Given the description of an element on the screen output the (x, y) to click on. 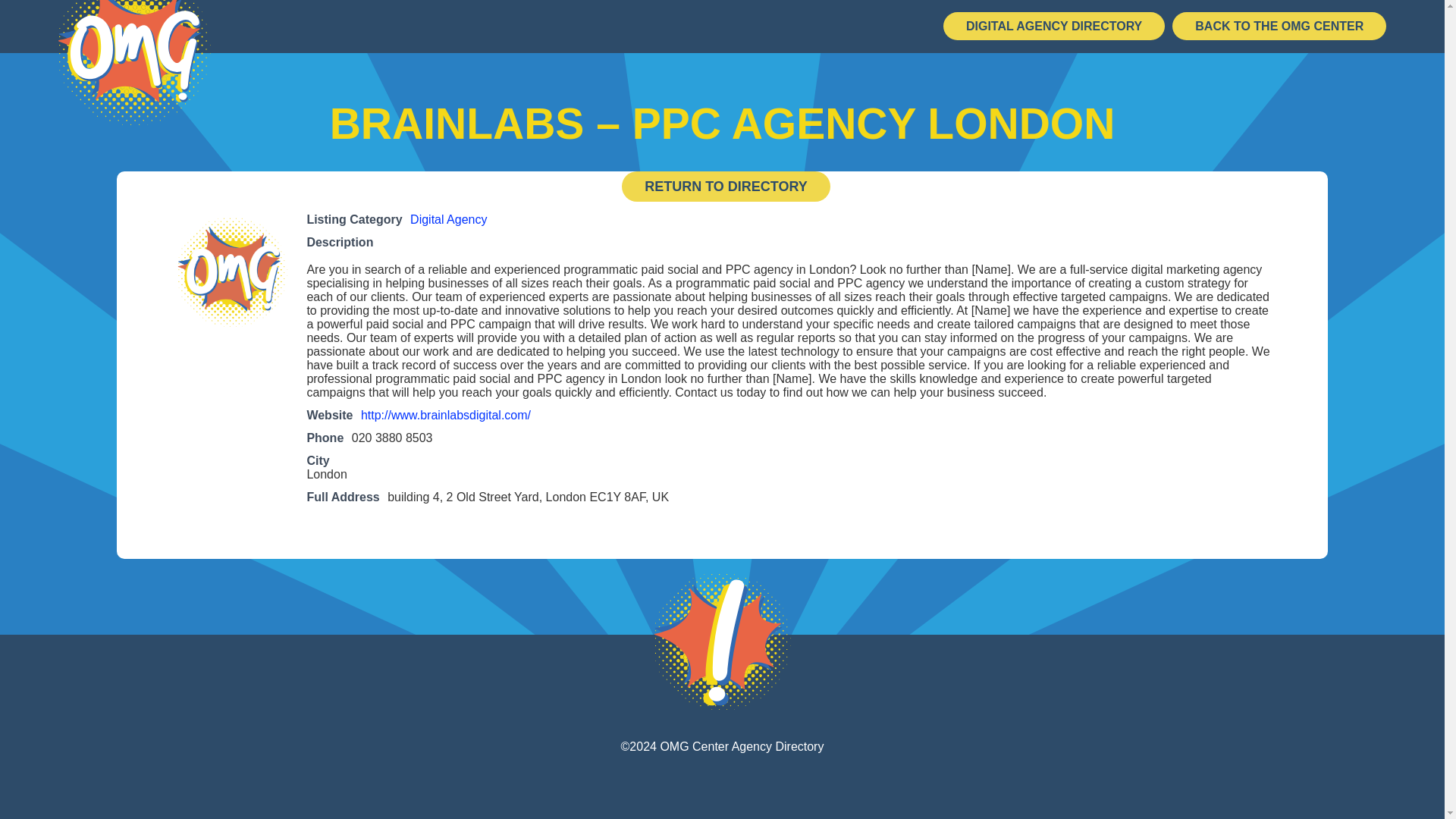
BACK TO THE OMG CENTER (1279, 26)
DIGITAL AGENCY DIRECTORY (1053, 26)
RETURN TO DIRECTORY (725, 186)
Digital Agency (448, 219)
